Given the description of an element on the screen output the (x, y) to click on. 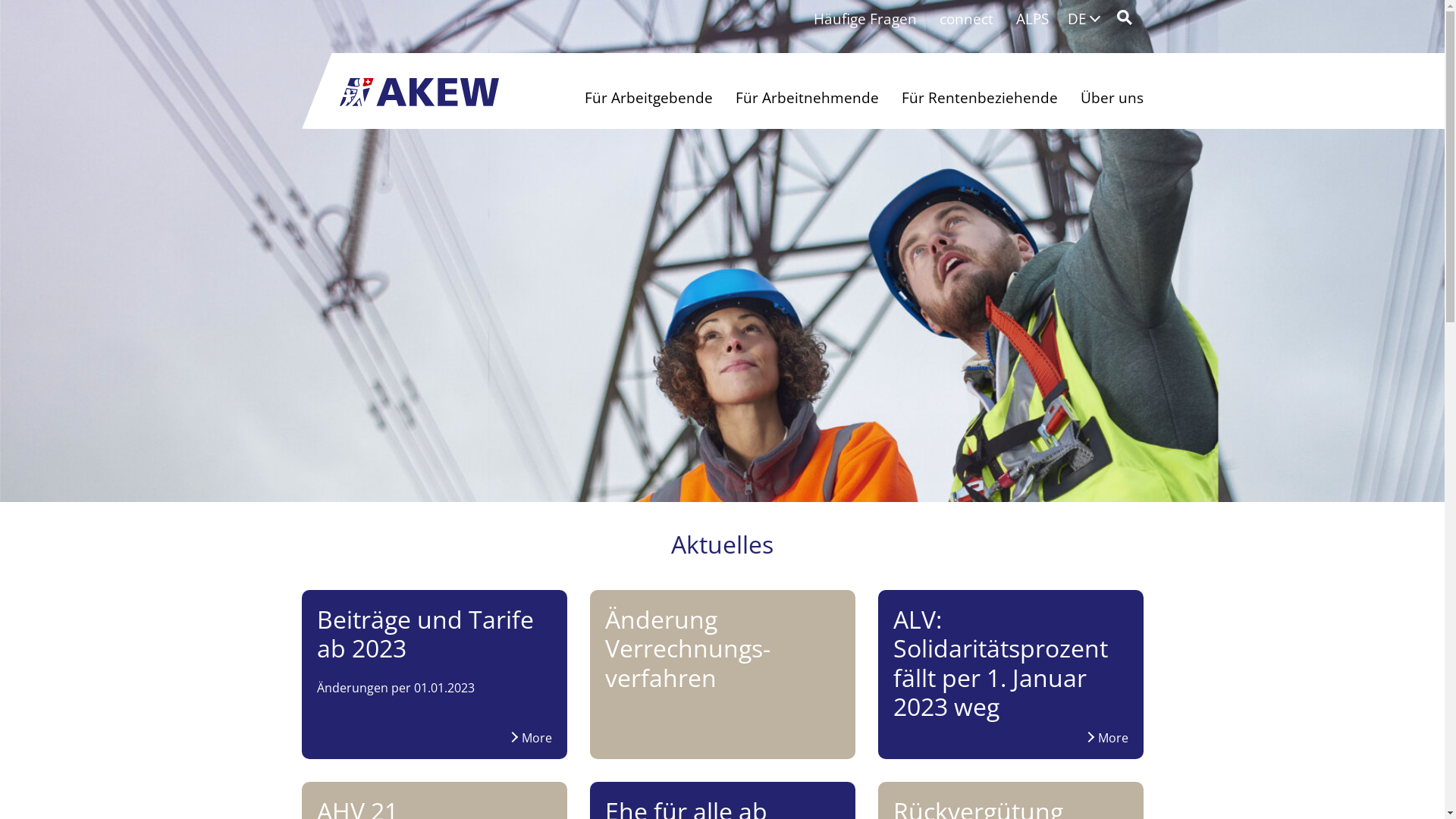
ALPS Element type: text (1031, 19)
connect Element type: text (966, 19)
Home Element type: hover (418, 92)
